Given the description of an element on the screen output the (x, y) to click on. 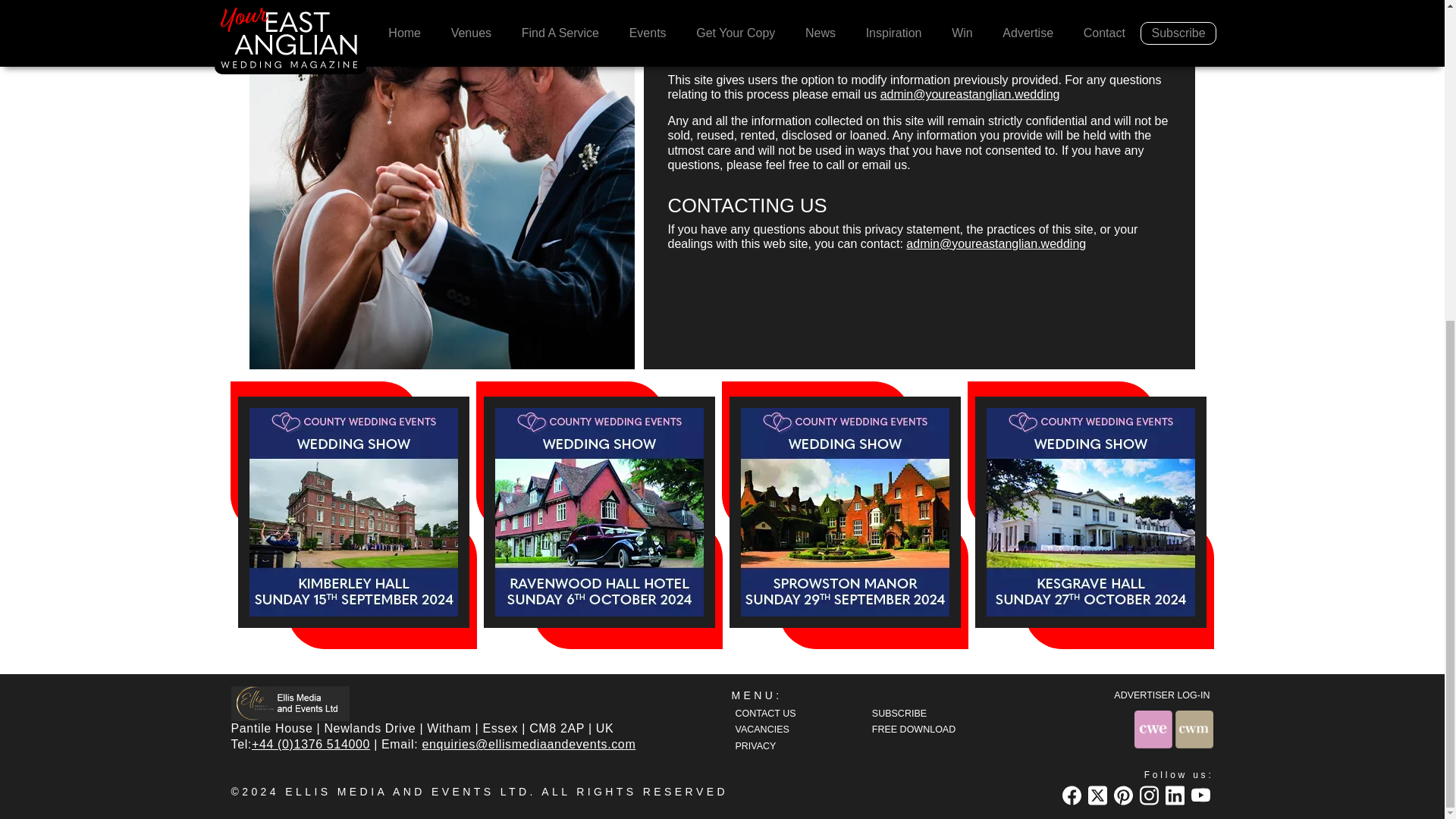
SUBSCRIBE (913, 713)
VACANCIES (776, 729)
ADVERTISER LOG-IN (1159, 694)
ELLIS MEDIA AND EVENTS LTD (407, 791)
Kesgrave Hall Wedding Show (1091, 512)
FREE DOWNLOAD (913, 729)
Kimberley Hall Wedding Show (353, 512)
PRIVACY (776, 745)
Ravenwood Hall Hotel Wedding Show (598, 512)
Sprowston Manor Wedding Show (844, 512)
